Given the description of an element on the screen output the (x, y) to click on. 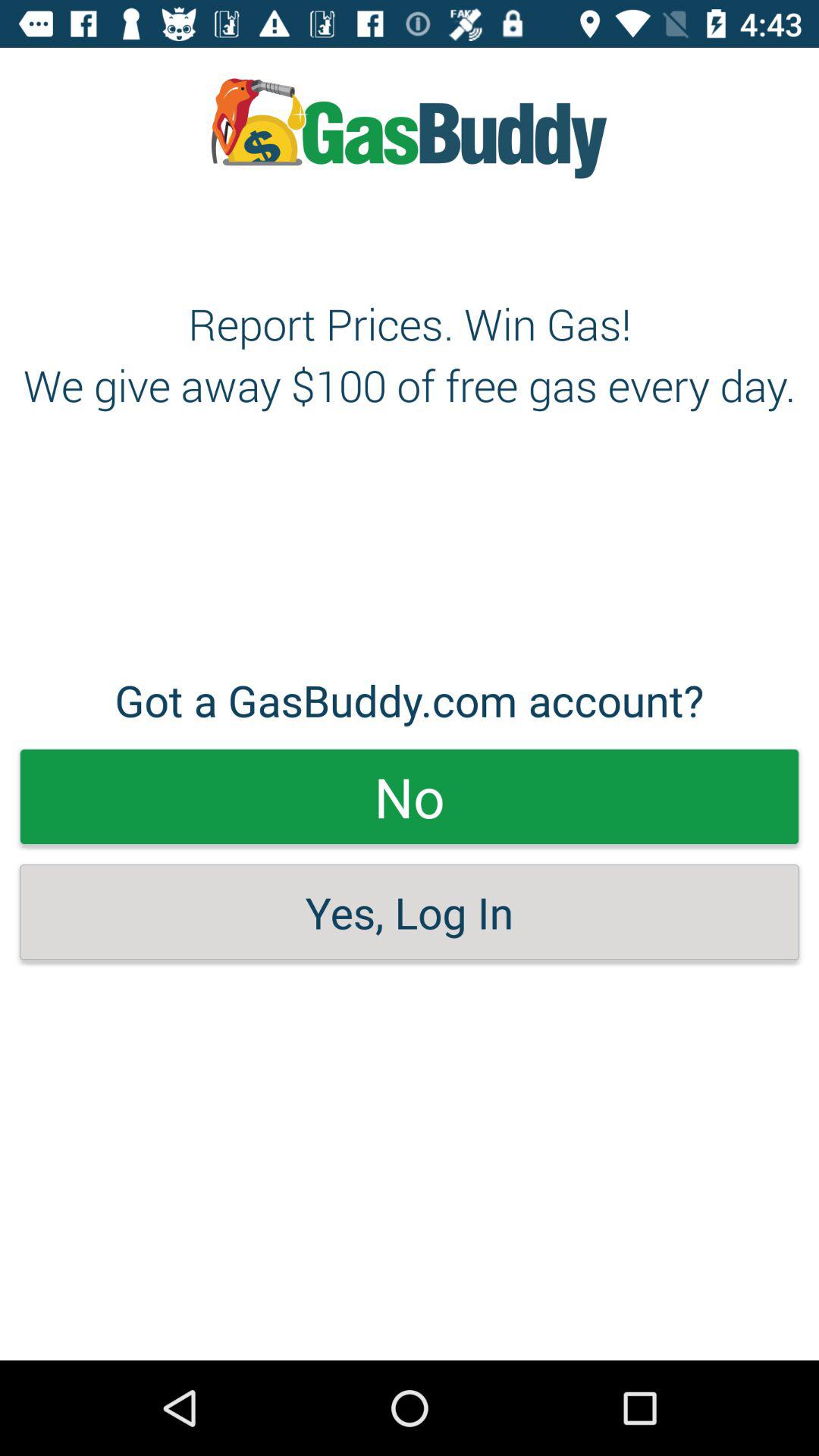
launch yes, log in item (409, 912)
